Given the description of an element on the screen output the (x, y) to click on. 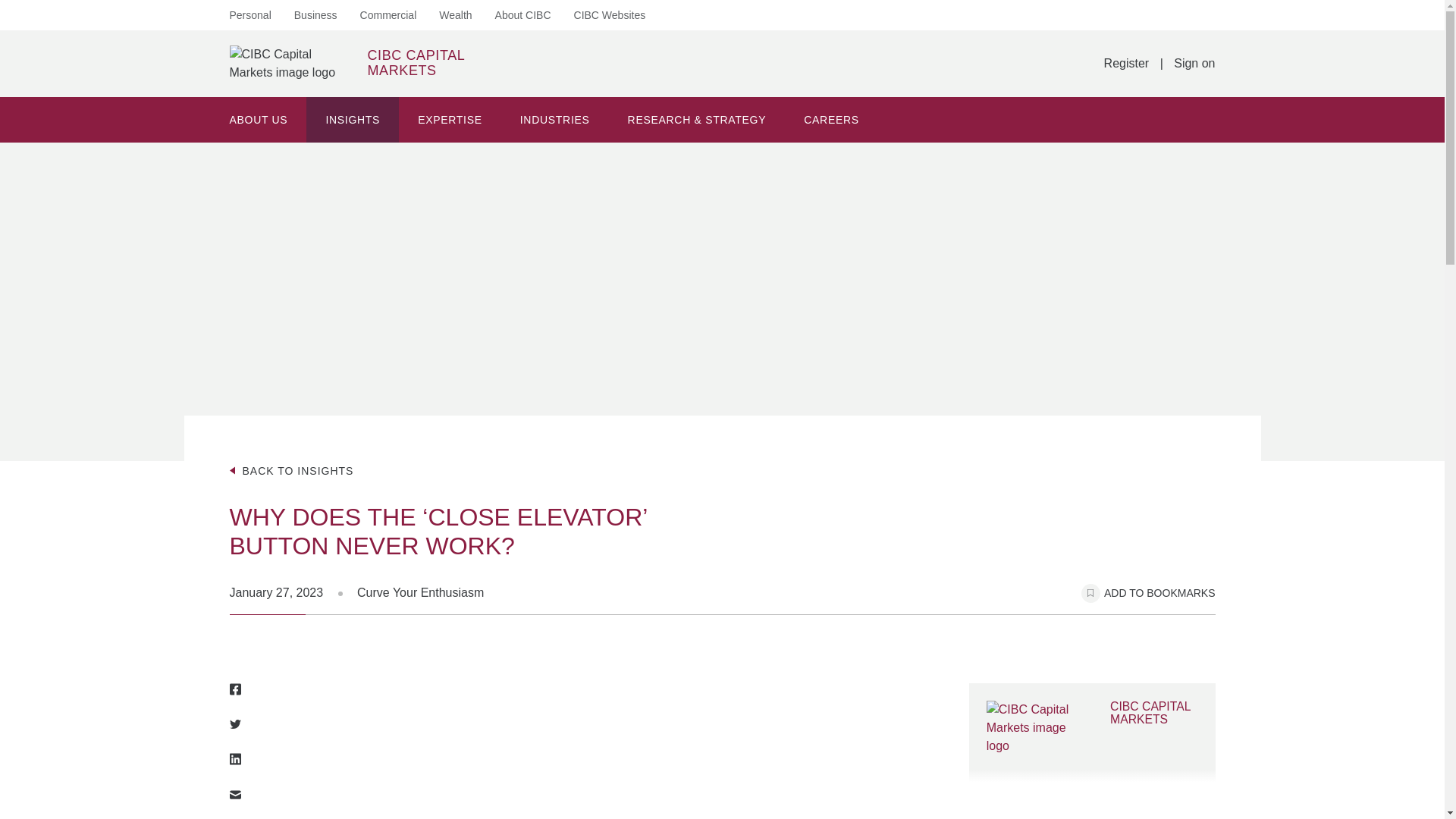
Register (1126, 63)
ABOUT US (259, 119)
INSIGHTS (351, 119)
Commercial (387, 15)
About CIBC (523, 15)
Wealth (455, 15)
CIBC Websites (346, 63)
Personal (609, 15)
Sign on (249, 15)
